Given the description of an element on the screen output the (x, y) to click on. 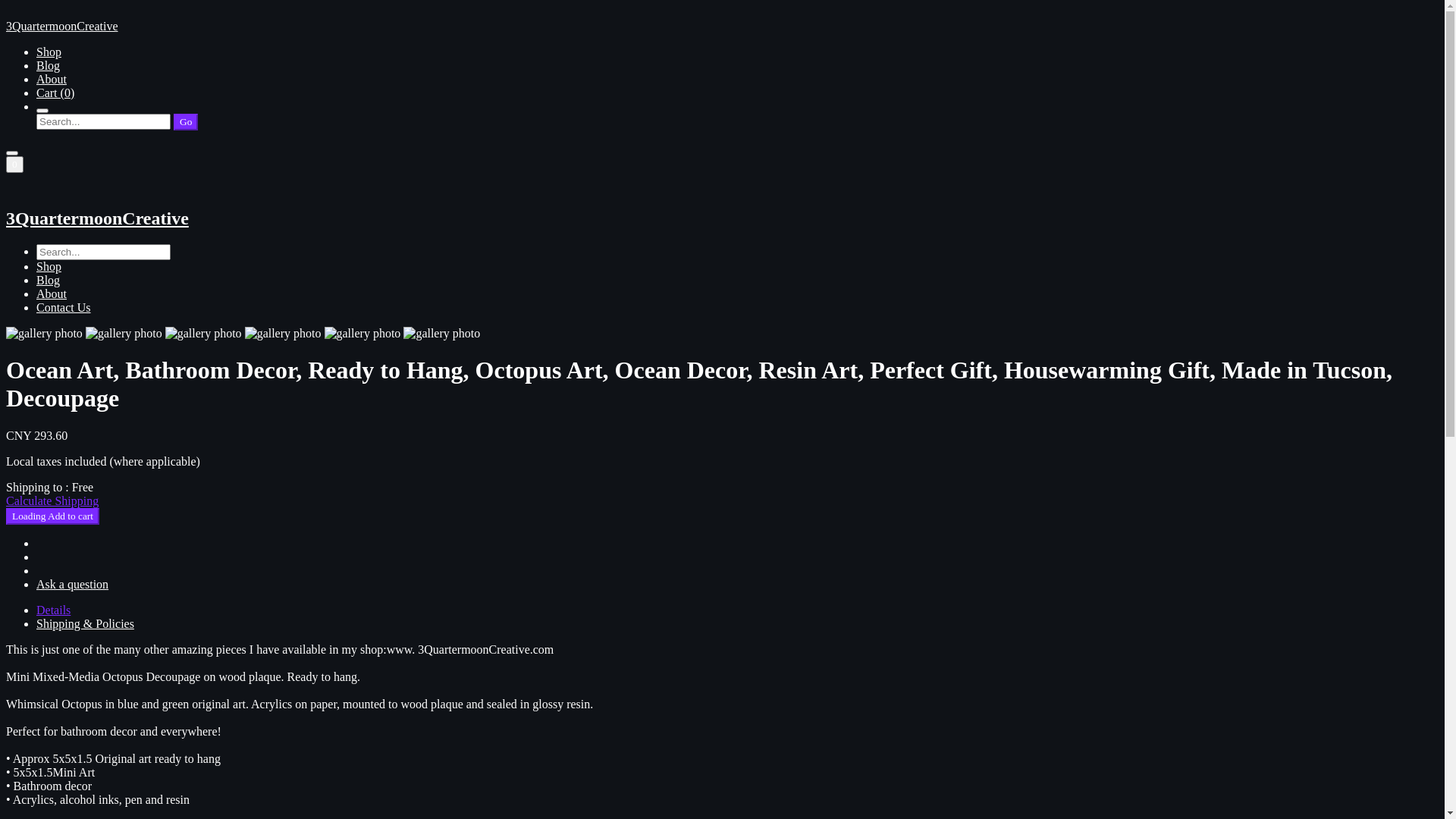
Shop Element type: text (48, 51)
Contact Us Element type: text (63, 307)
About Element type: text (51, 78)
Cart (0) Element type: text (55, 92)
3QuartermoonCreative Element type: text (722, 19)
Shipping & Policies Element type: text (85, 623)
Shop Element type: text (48, 266)
Ask a question Element type: text (72, 583)
3QuartermoonCreative Element type: text (722, 208)
Loading Add to cart Element type: text (52, 516)
About Element type: text (51, 293)
Blog Element type: text (47, 279)
0 Element type: text (14, 164)
Blog Element type: text (47, 65)
Calculate Shipping Element type: text (52, 500)
Details Element type: text (53, 609)
Go Element type: text (185, 121)
